Given the description of an element on the screen output the (x, y) to click on. 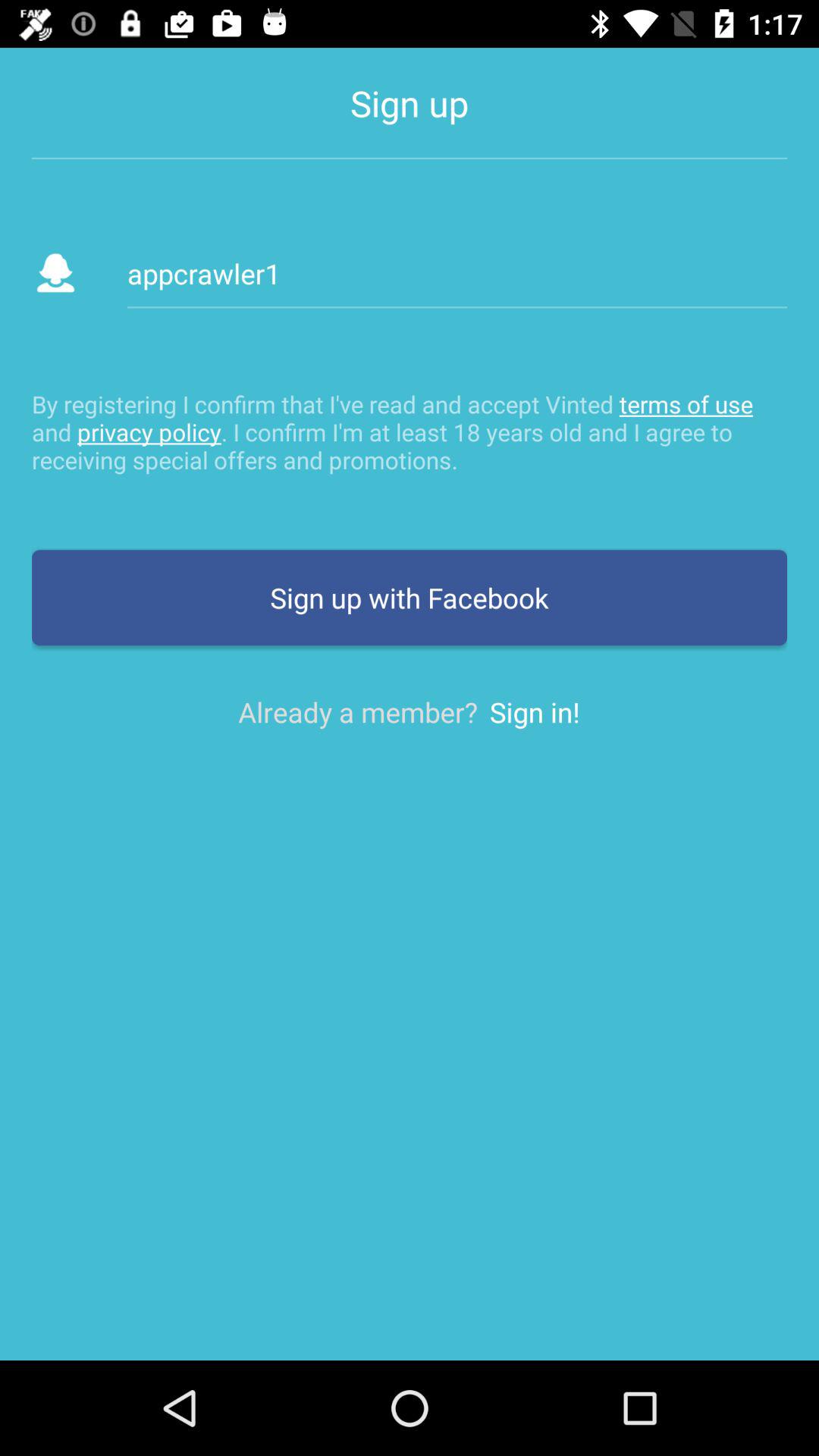
turn on appcrawler1 (457, 273)
